Given the description of an element on the screen output the (x, y) to click on. 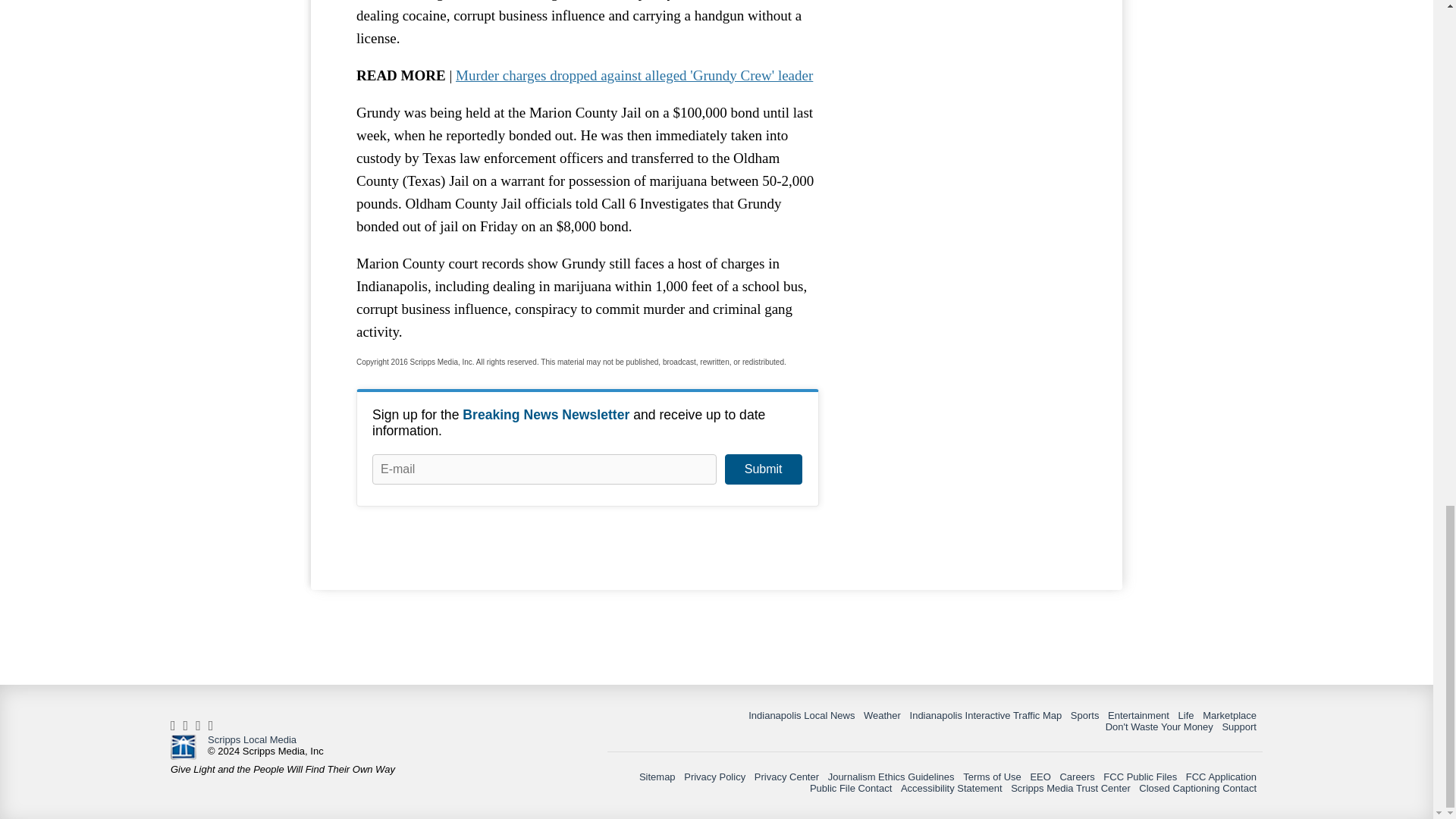
Submit (763, 469)
